Given the description of an element on the screen output the (x, y) to click on. 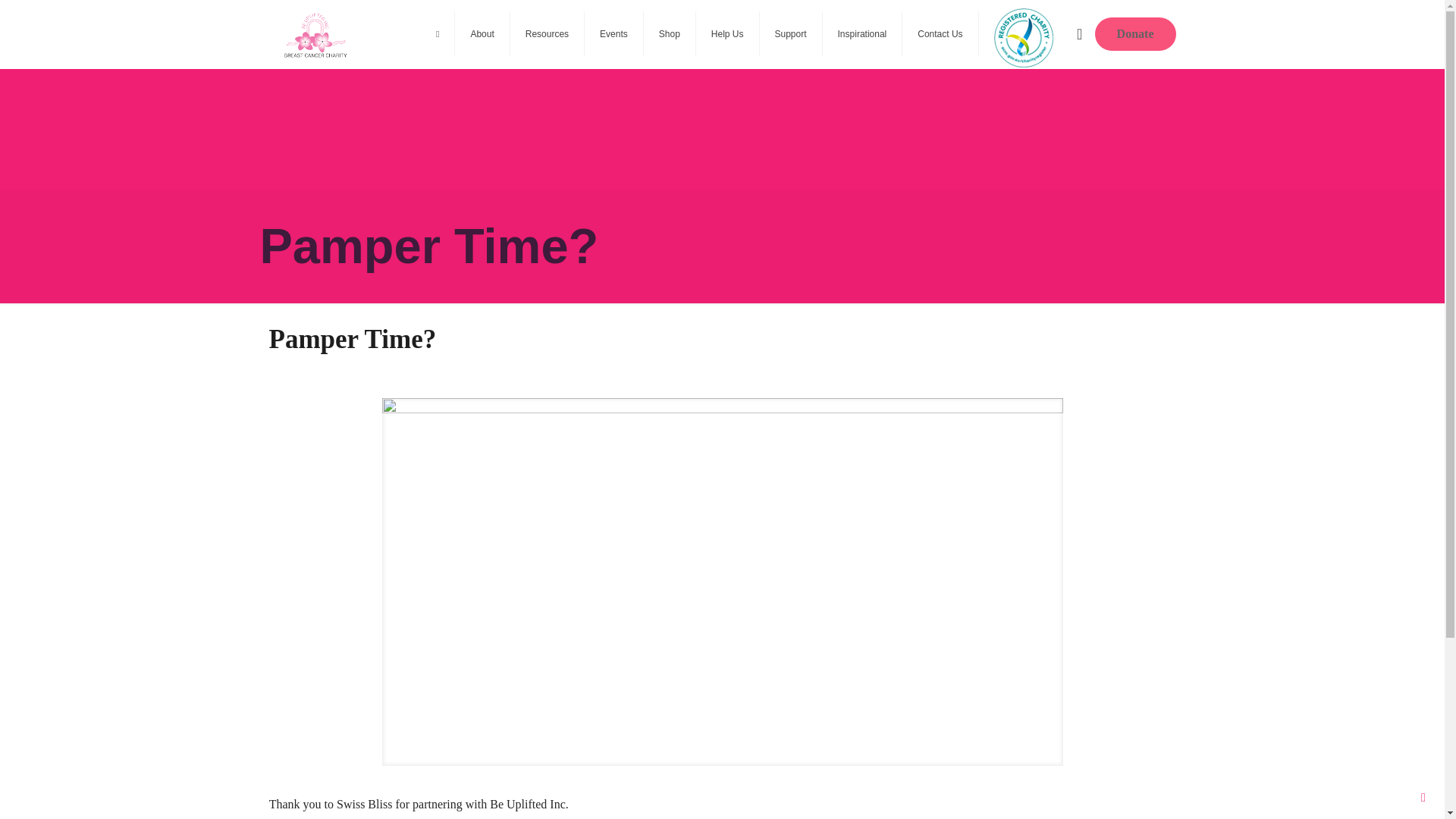
Help Us (727, 33)
Resources (548, 33)
Support (791, 33)
Be Uplifted Inc Brisbane Breast Cancer Charity (314, 33)
